Given the description of an element on the screen output the (x, y) to click on. 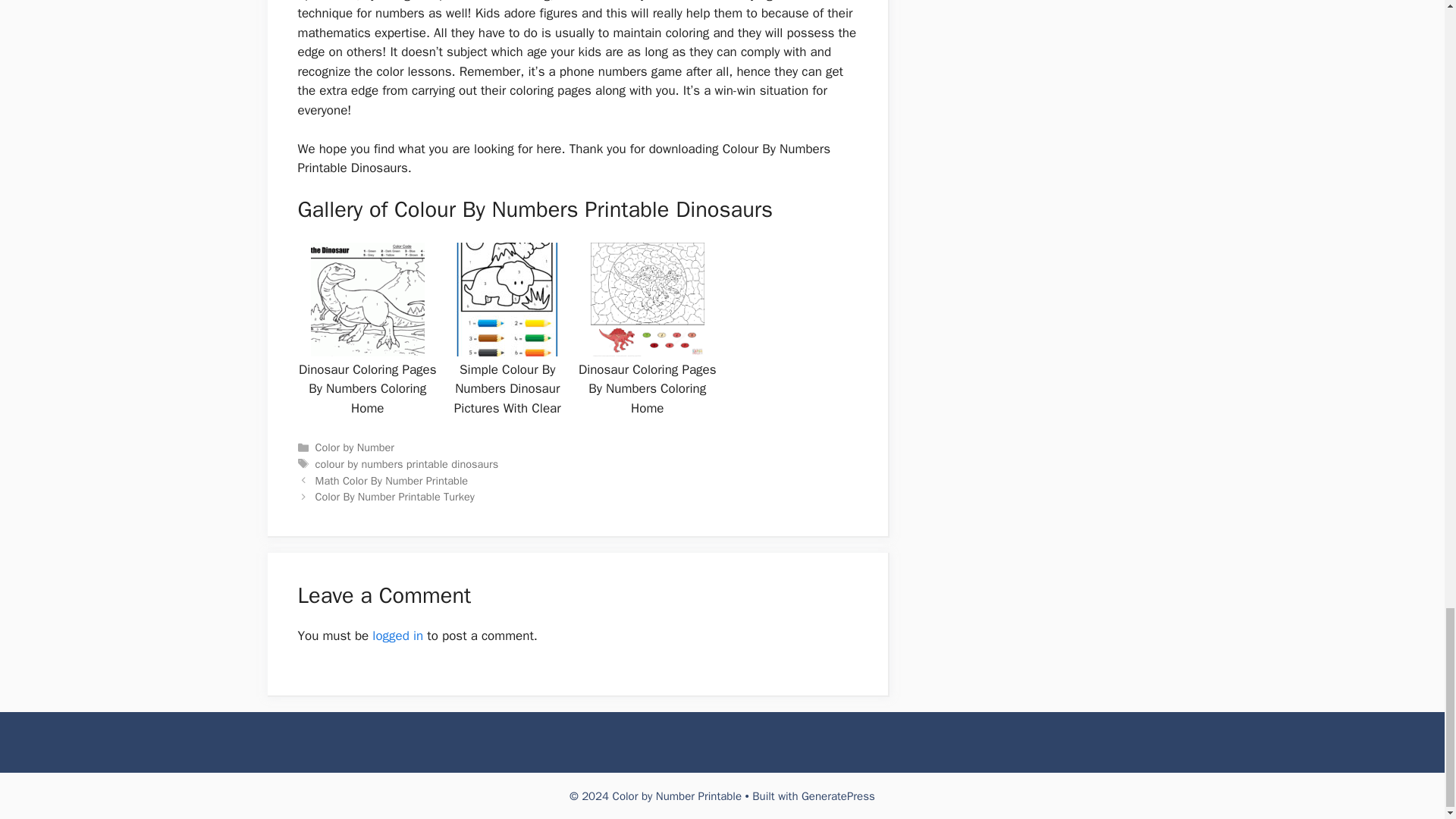
Next (394, 496)
GeneratePress (838, 796)
Color by Number (354, 447)
logged in (397, 635)
Math Color By Number Printable (391, 480)
Color By Number Printable Turkey (394, 496)
Previous (391, 480)
colour by numbers printable dinosaurs (407, 463)
